Given the description of an element on the screen output the (x, y) to click on. 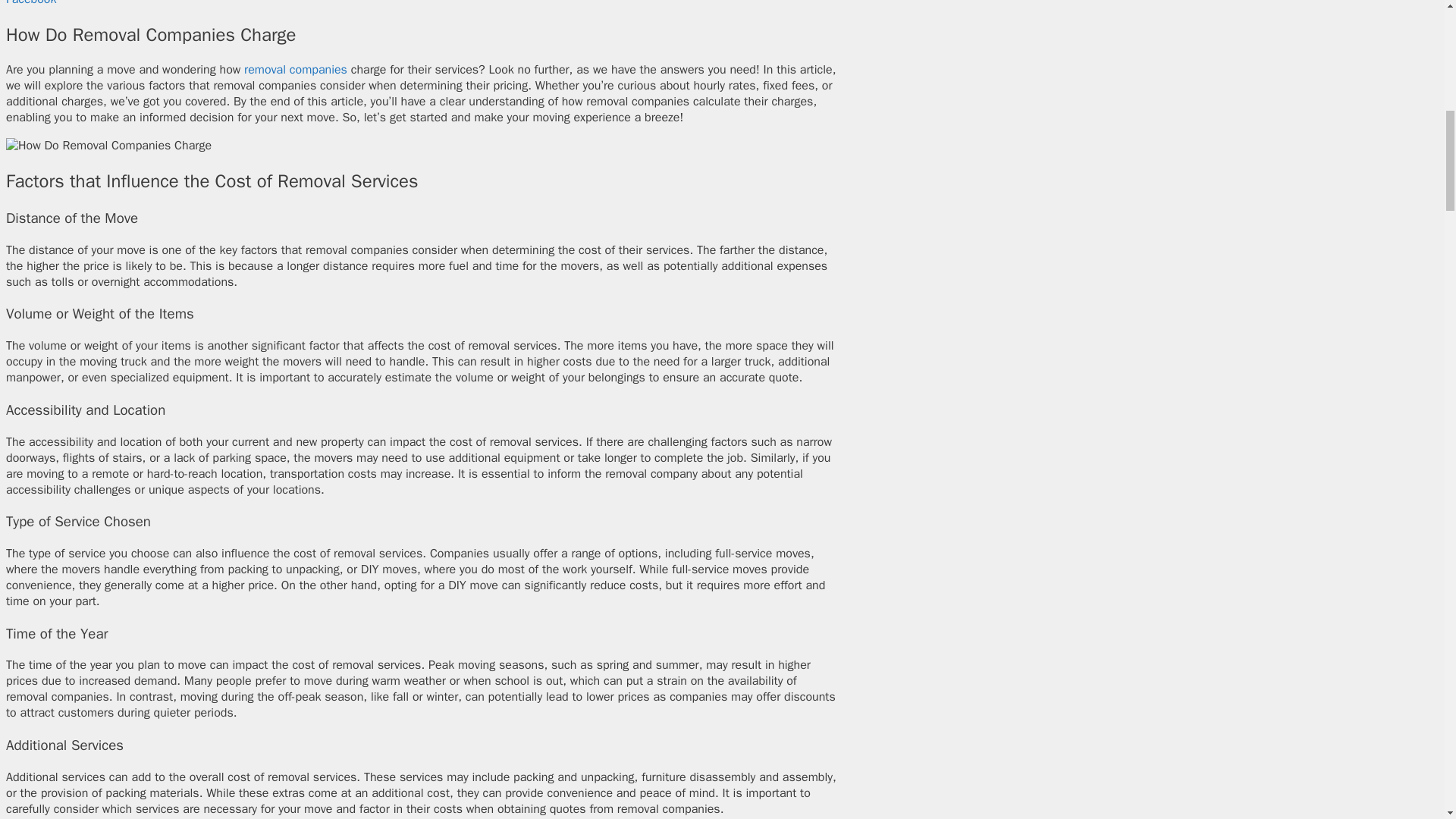
Facebook (30, 3)
How Do Removal Companies Charge (108, 145)
removal companies (295, 69)
